Given the description of an element on the screen output the (x, y) to click on. 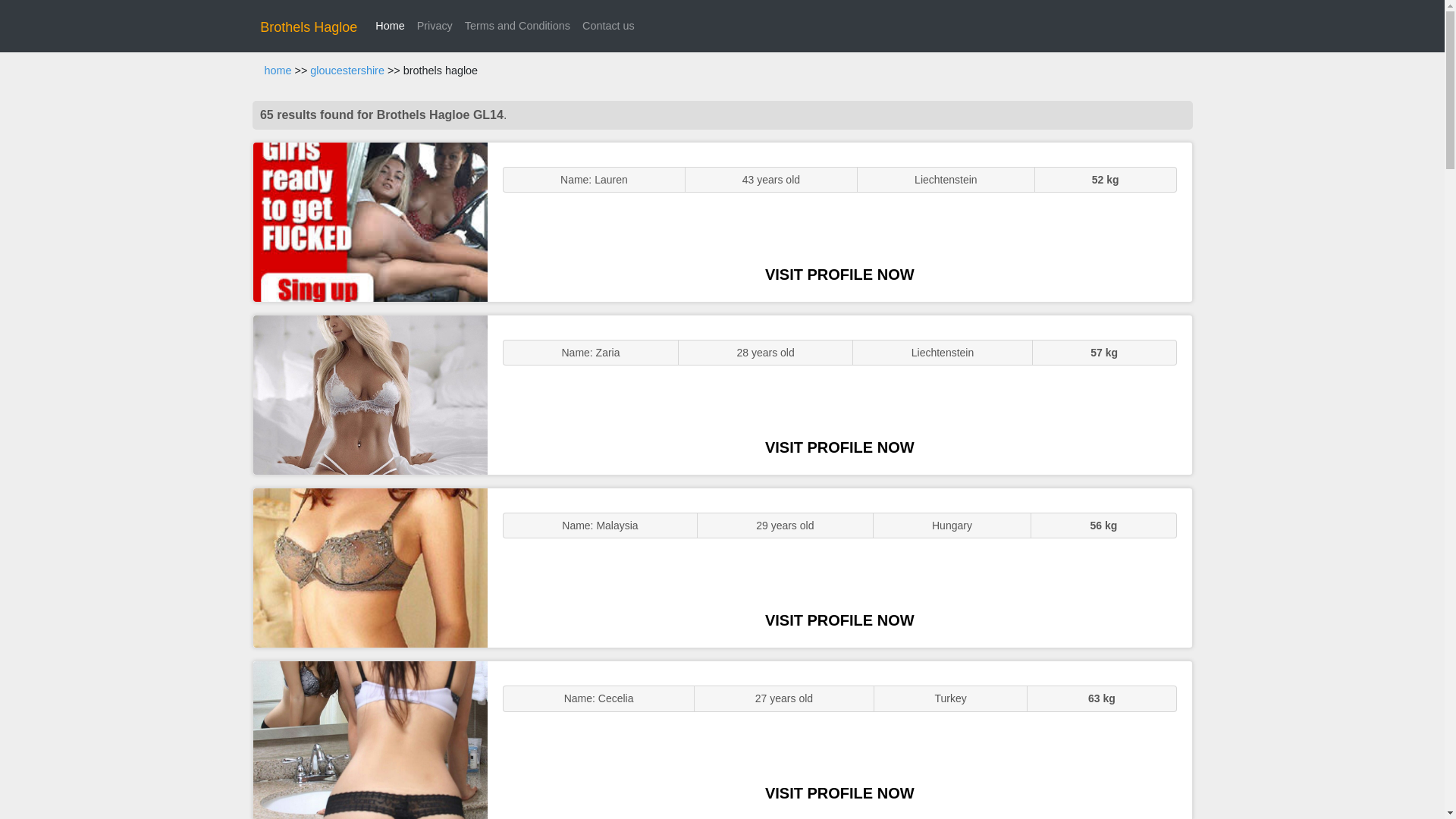
VISIT PROFILE NOW (839, 619)
home (277, 70)
Terms and Conditions (517, 25)
VISIT PROFILE NOW (839, 792)
Sluts (370, 739)
 ENGLISH STUNNER (370, 222)
VISIT PROFILE NOW (839, 274)
VISIT PROFILE NOW (839, 446)
Contact us (608, 25)
gloucestershire (347, 70)
Sexy (370, 567)
Brothels Hagloe (308, 27)
Privacy (434, 25)
GFE (370, 395)
